Given the description of an element on the screen output the (x, y) to click on. 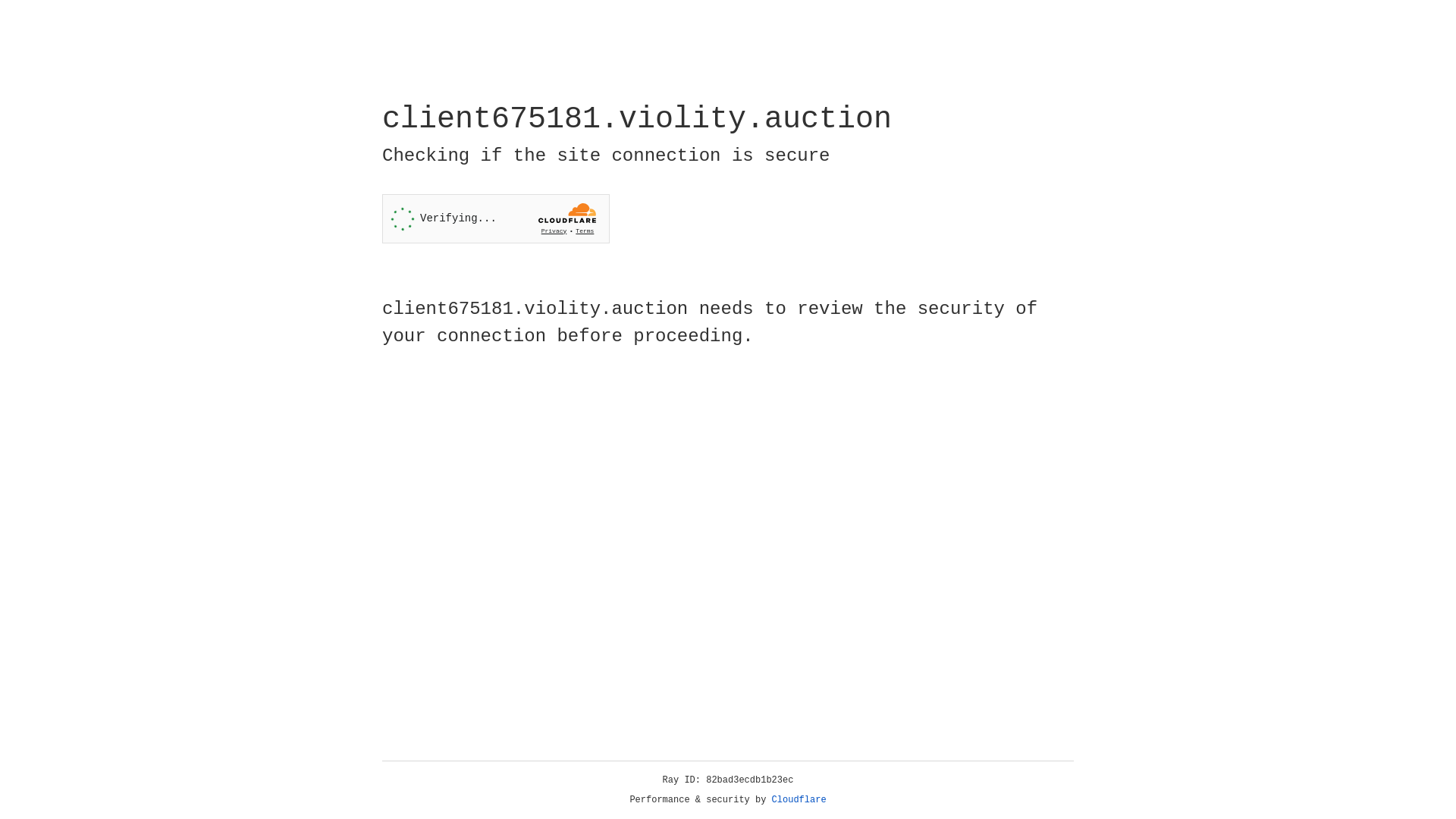
Cloudflare Element type: text (798, 799)
Widget containing a Cloudflare security challenge Element type: hover (495, 218)
